Given the description of an element on the screen output the (x, y) to click on. 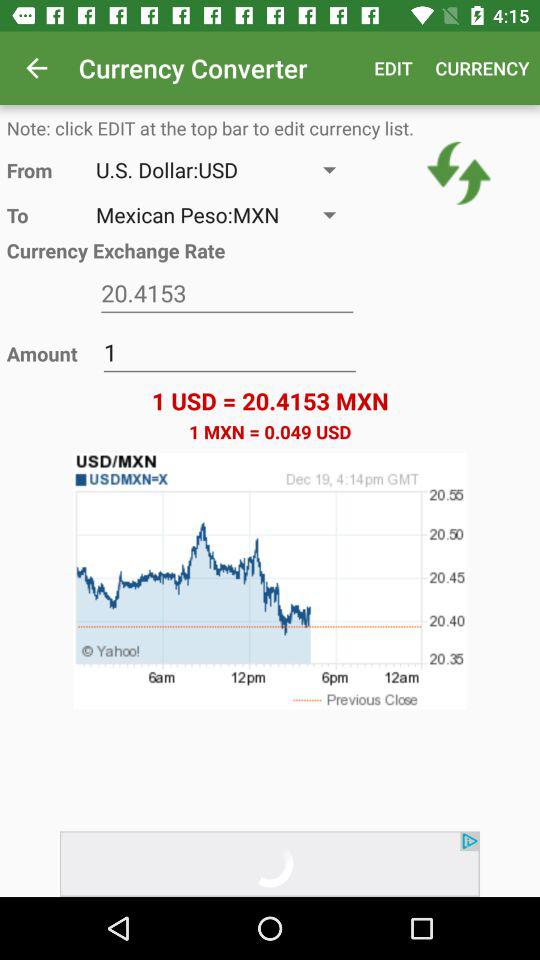
choose the item above 1 usd 20 (458, 173)
